Given the description of an element on the screen output the (x, y) to click on. 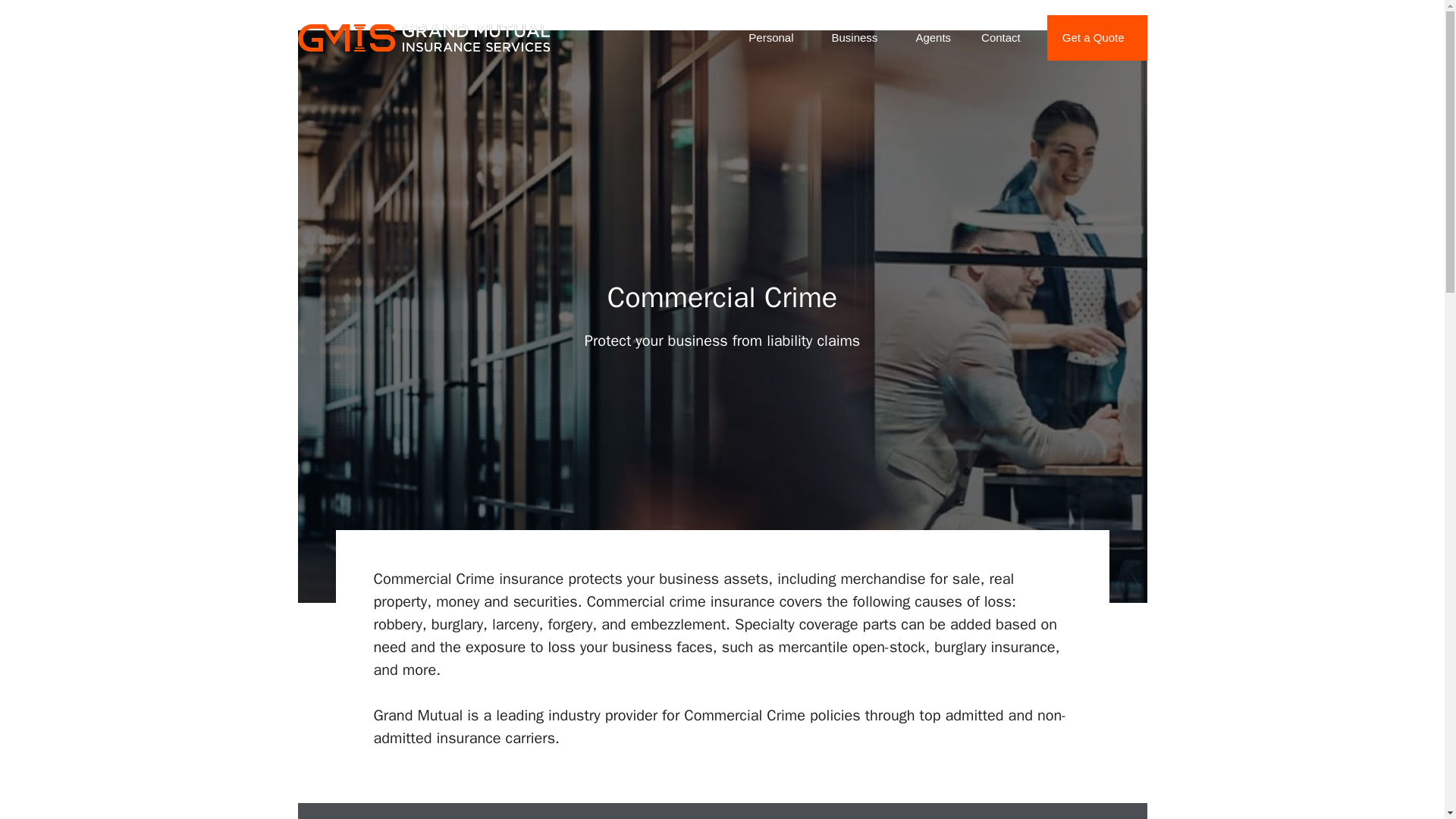
Personal (774, 37)
Business (857, 37)
Agents (932, 37)
Contact (1000, 37)
Get a Quote (1096, 37)
